Given the description of an element on the screen output the (x, y) to click on. 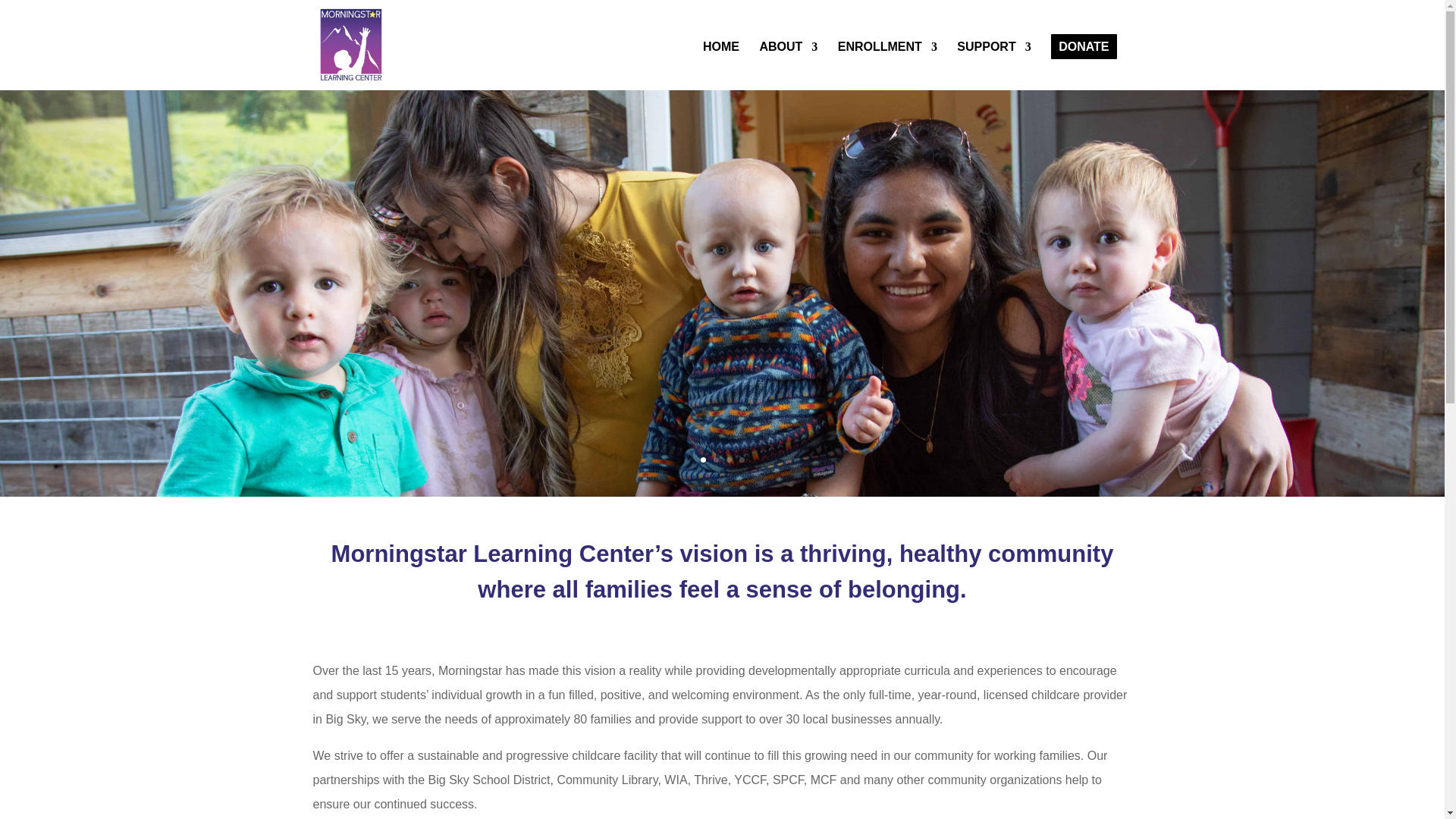
DONATE (1083, 65)
4 (741, 459)
ABOUT (787, 65)
3 (729, 459)
ENROLLMENT (887, 65)
HOME (721, 65)
1 (703, 459)
SUPPORT (993, 65)
